Given the description of an element on the screen output the (x, y) to click on. 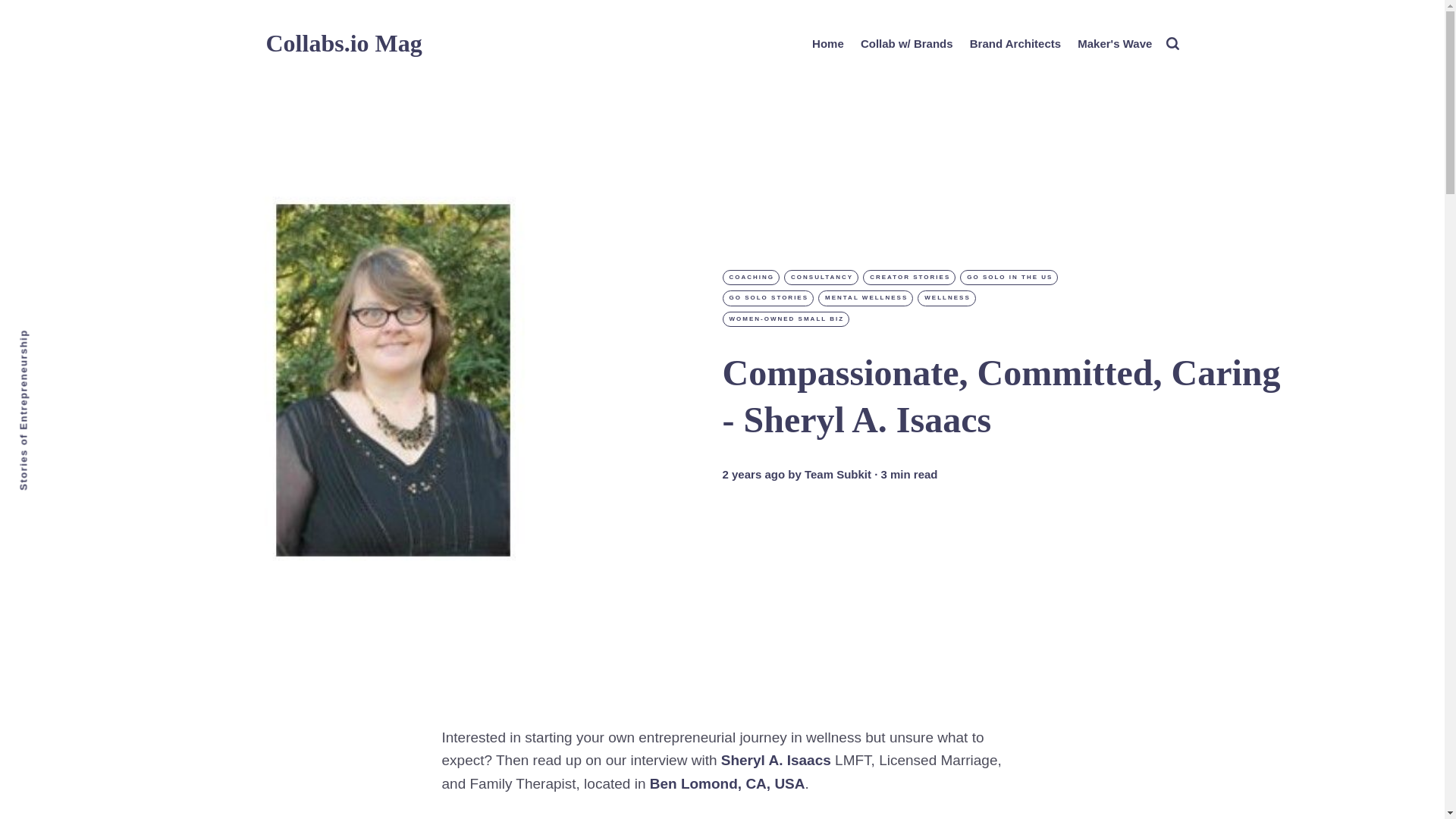
Team Subkit (837, 474)
CONSULTANCY (821, 277)
GO SOLO IN THE US (1008, 277)
Home (827, 43)
CREATOR STORIES (909, 277)
Maker's Wave (1114, 43)
MENTAL WELLNESS (865, 297)
GO SOLO STORIES (767, 297)
Brand Architects (1015, 43)
COACHING (750, 277)
